Given the description of an element on the screen output the (x, y) to click on. 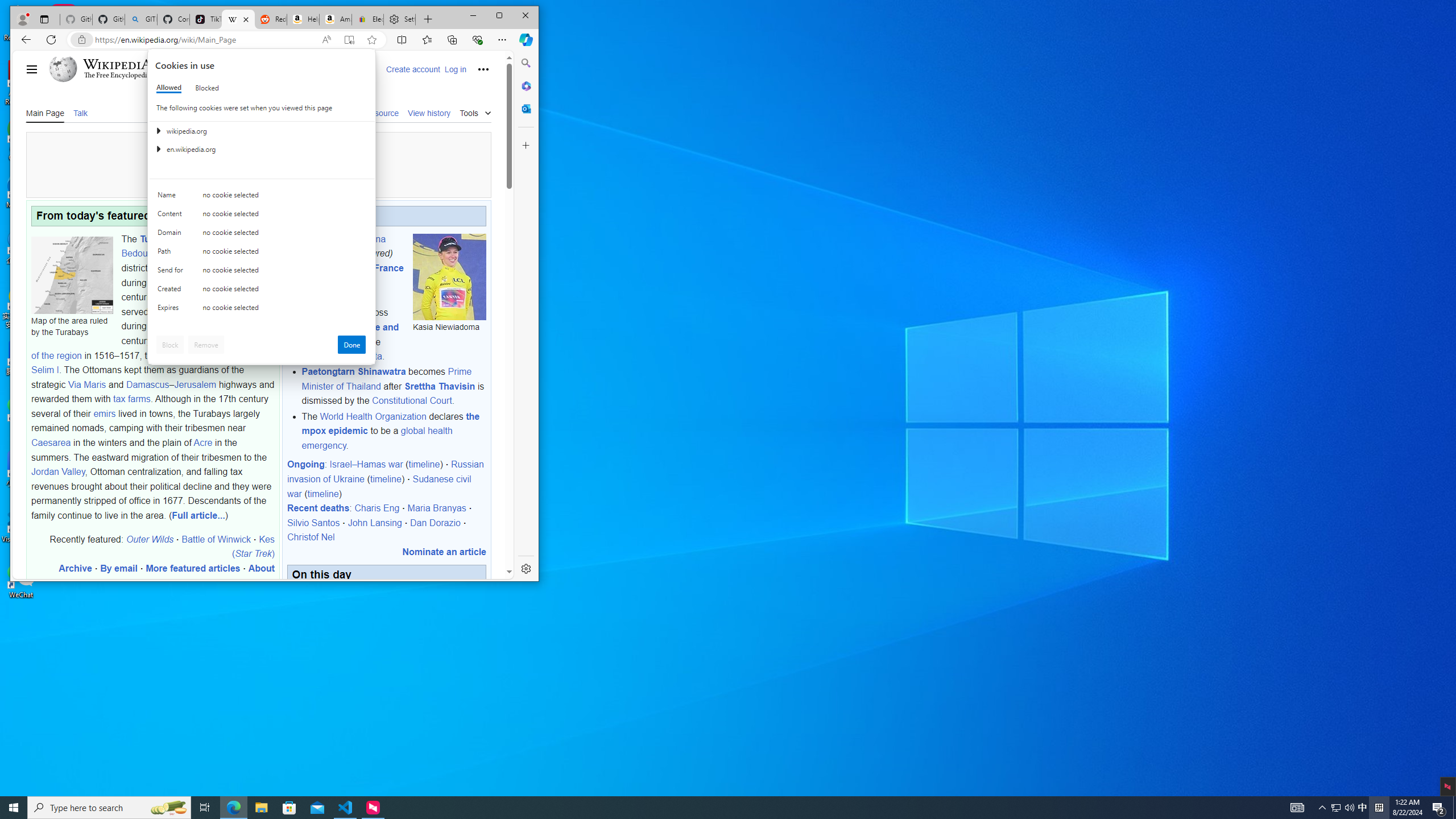
Class: c0153 c0157 c0154 (261, 197)
Blocked (206, 87)
no cookie selected (284, 310)
Expires (172, 310)
Type here to search (108, 807)
Microsoft Store (289, 807)
Content (172, 216)
Action Center, 2 new notifications (1439, 807)
Remove (205, 344)
Show desktop (1454, 807)
Done (351, 344)
Block (169, 344)
Name (172, 197)
Tray Input Indicator - Chinese (Simplified, China) (1378, 807)
